Given the description of an element on the screen output the (x, y) to click on. 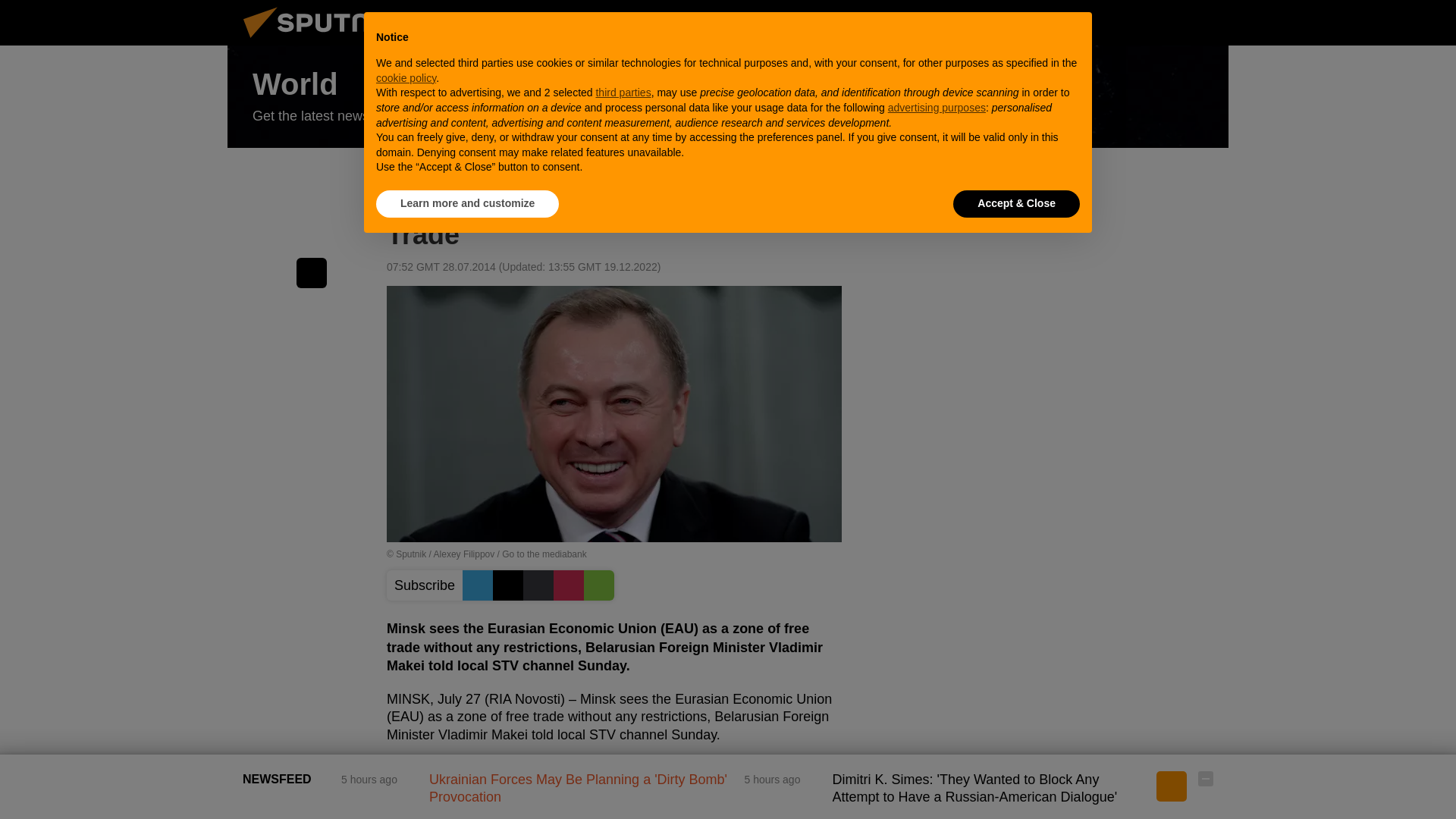
Sputnik International (325, 41)
Authorization (1129, 22)
World (727, 96)
Chats (1206, 22)
